Given the description of an element on the screen output the (x, y) to click on. 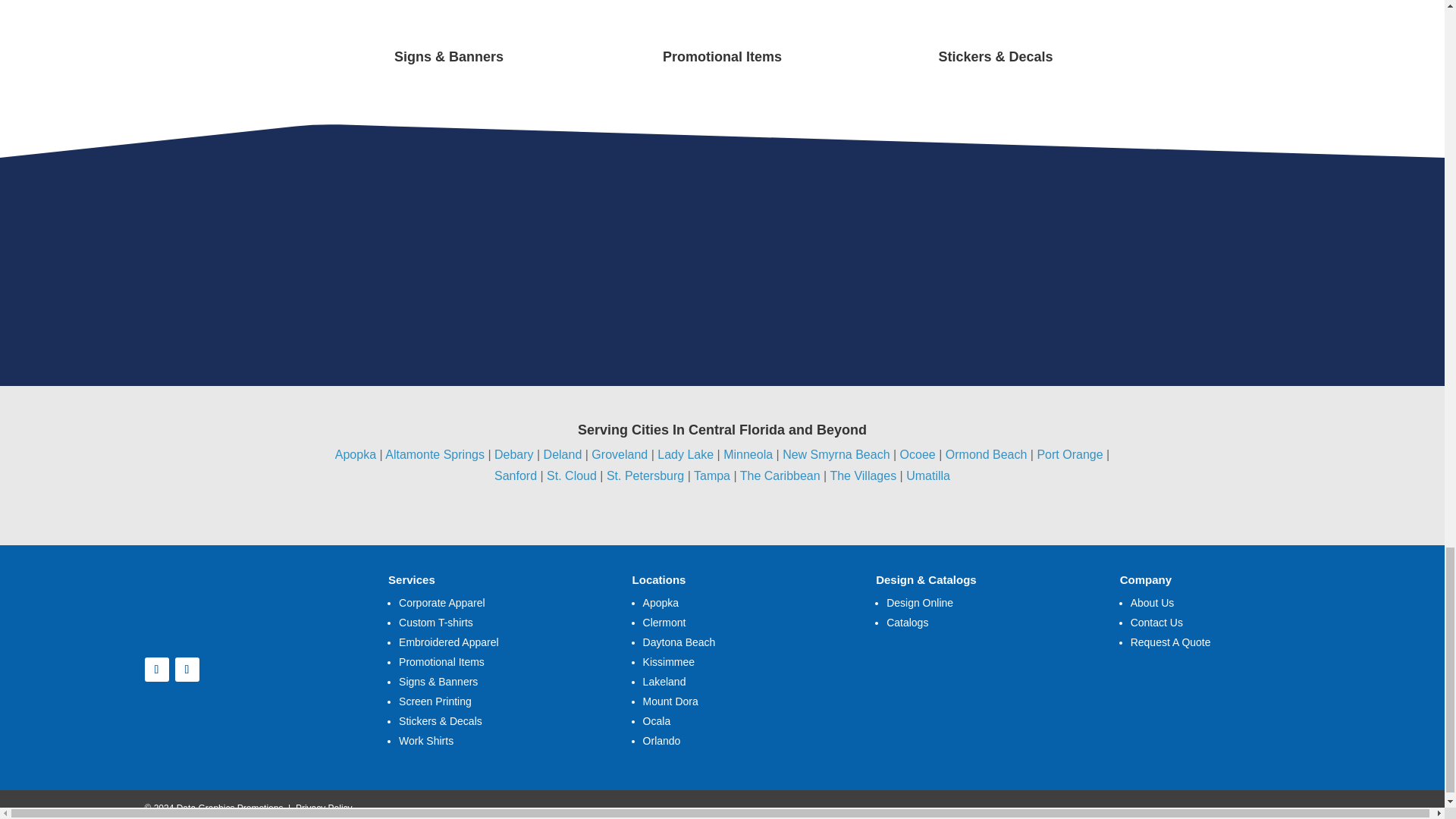
Follow on Youtube (186, 669)
badger (1192, 252)
gildan (208, 247)
Follow on Facebook (156, 669)
nike (684, 252)
logo-web (234, 599)
pc (955, 252)
